Given the description of an element on the screen output the (x, y) to click on. 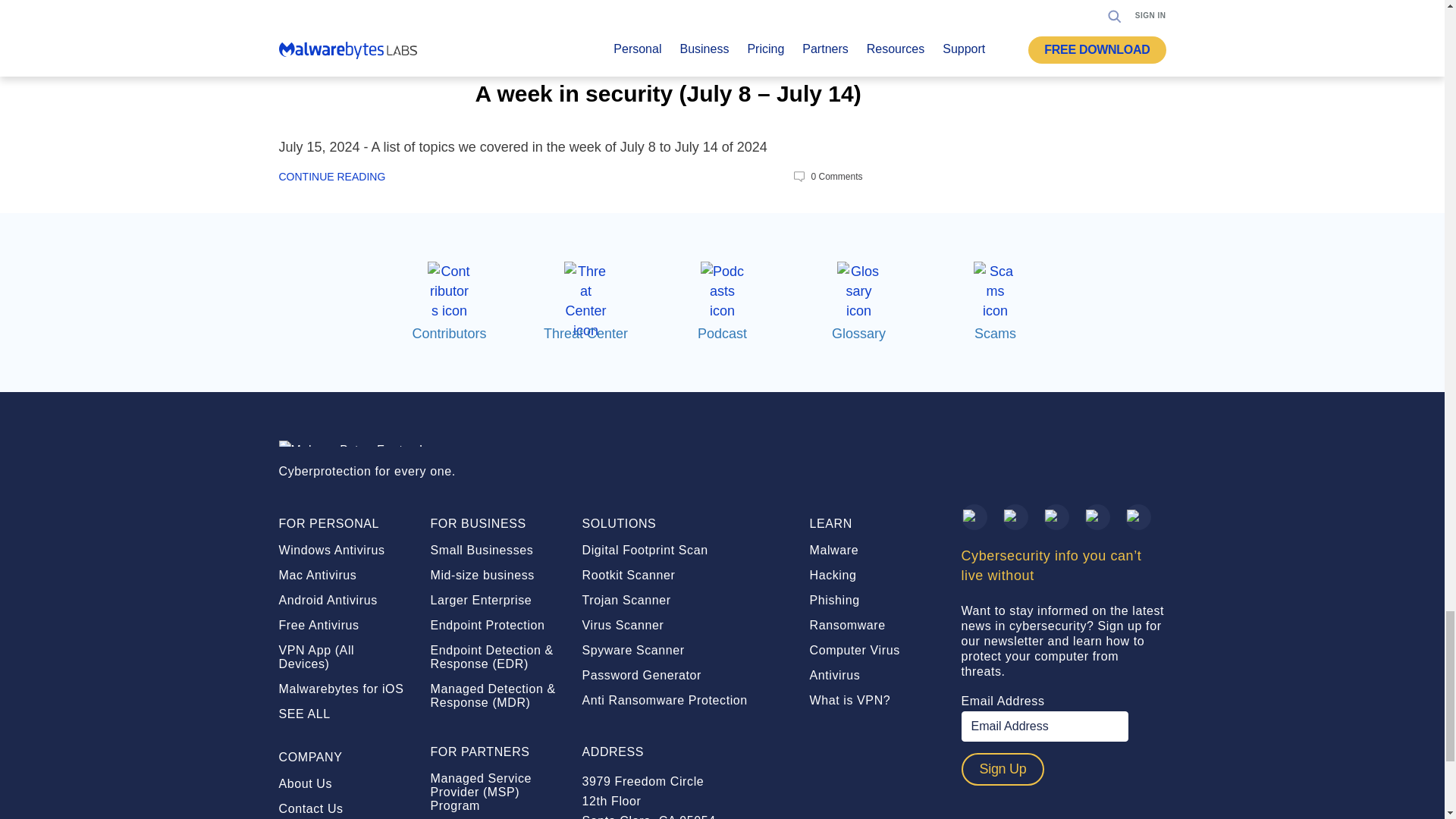
Sign Up (1002, 768)
